Given the description of an element on the screen output the (x, y) to click on. 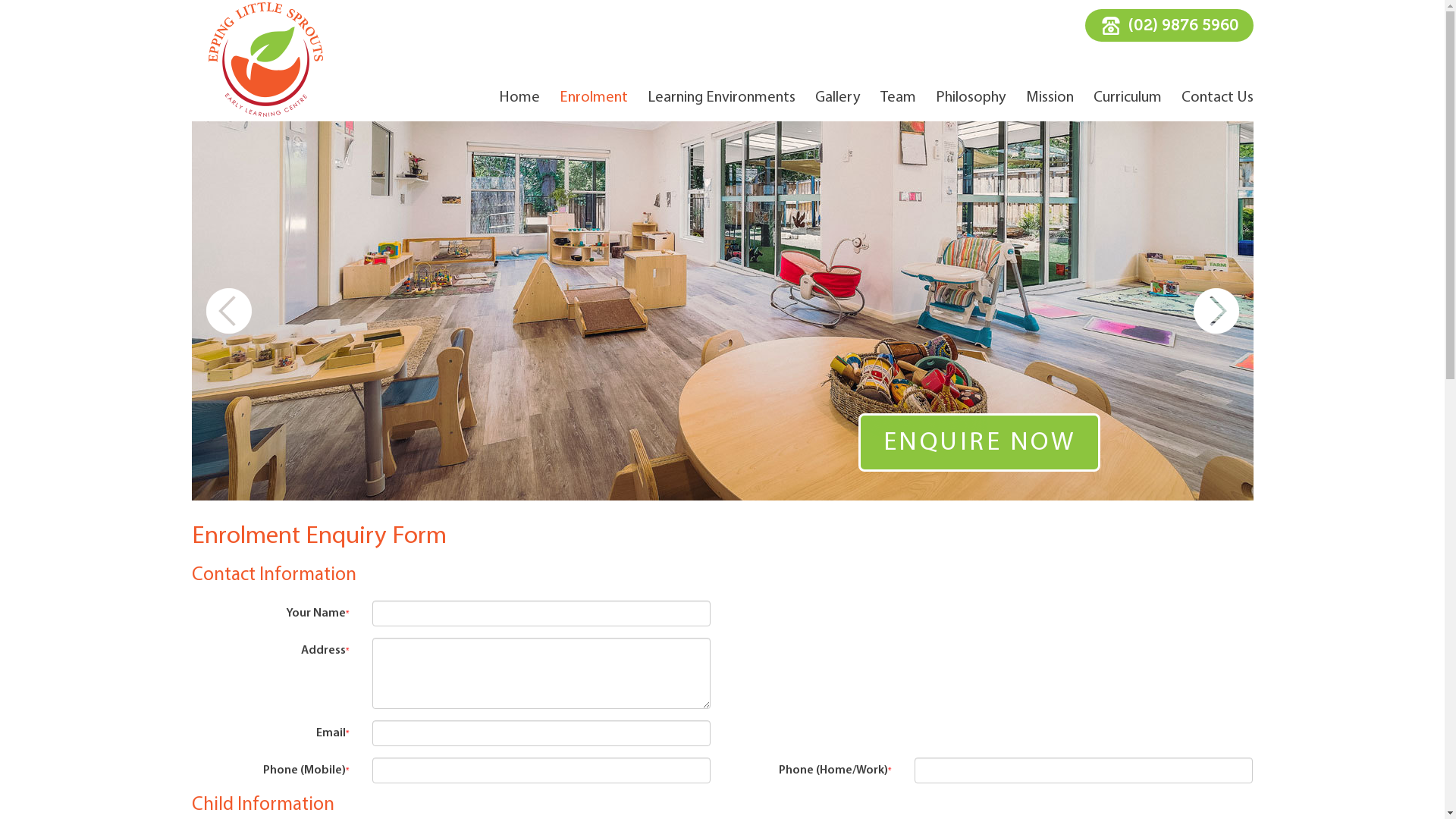
ENQUIRE NOW Element type: text (979, 442)
(02) 9876 5960 Element type: text (1168, 25)
Home Element type: text (518, 97)
Team Element type: text (897, 97)
Philosophy Element type: text (970, 97)
Contact Us Element type: text (1217, 97)
Gallery Element type: text (836, 97)
Learning Environments Element type: text (721, 97)
Enrolment Element type: text (593, 97)
Curriculum Element type: text (1127, 97)
Mission Element type: text (1049, 97)
